Given the description of an element on the screen output the (x, y) to click on. 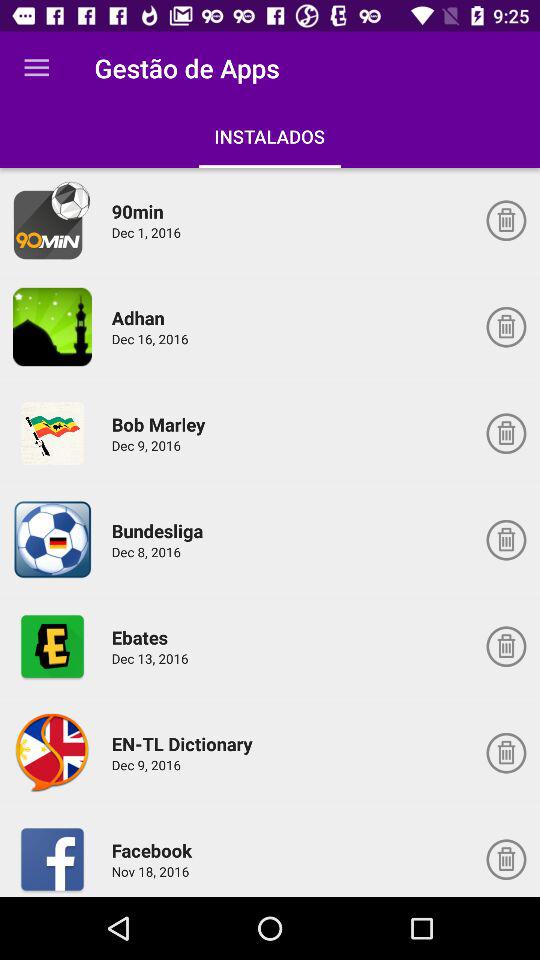
click the item below dec 9, 2016 icon (160, 530)
